Given the description of an element on the screen output the (x, y) to click on. 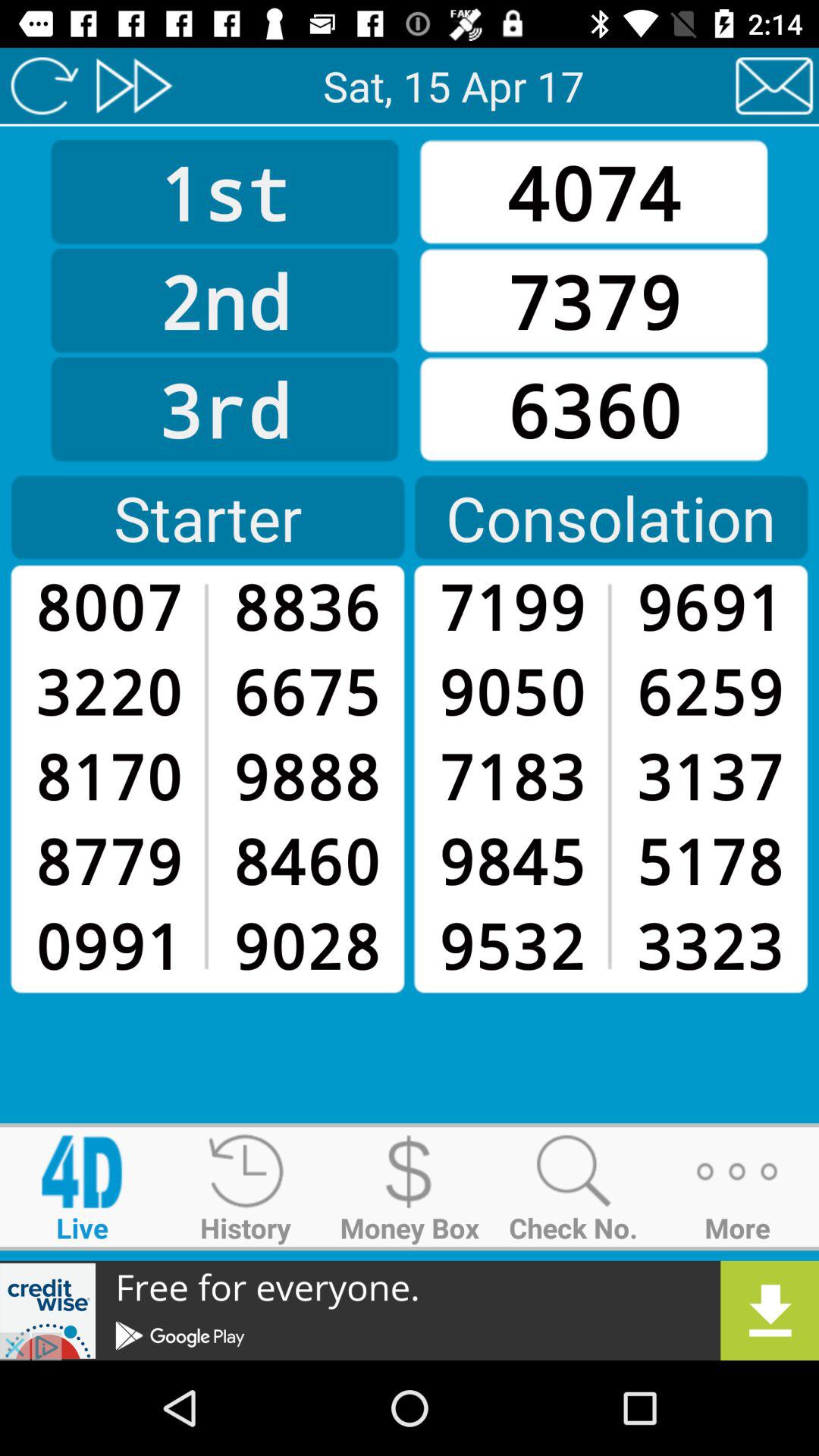
go to advertisement (409, 1310)
